Given the description of an element on the screen output the (x, y) to click on. 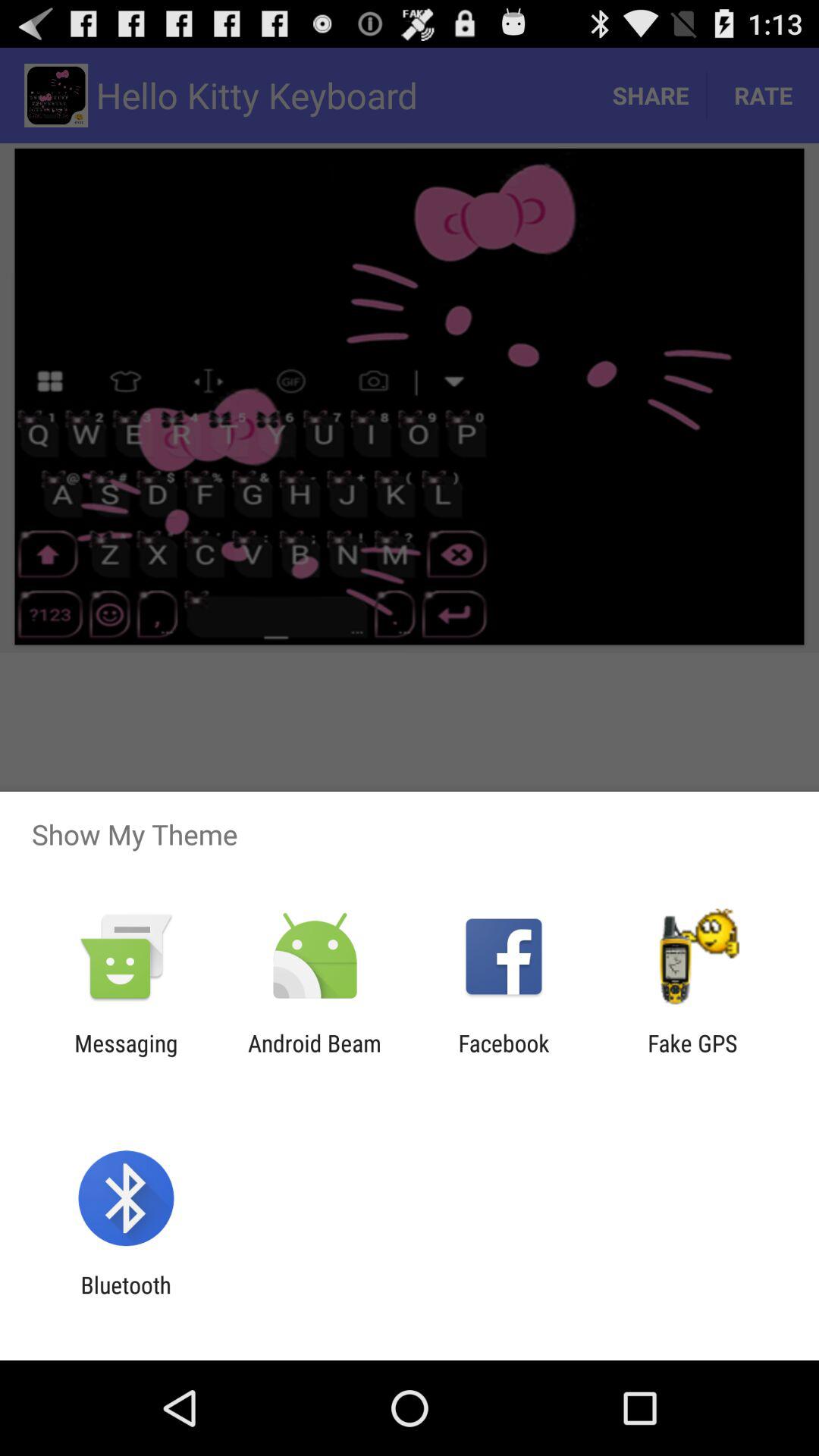
press icon next to facebook (314, 1056)
